Given the description of an element on the screen output the (x, y) to click on. 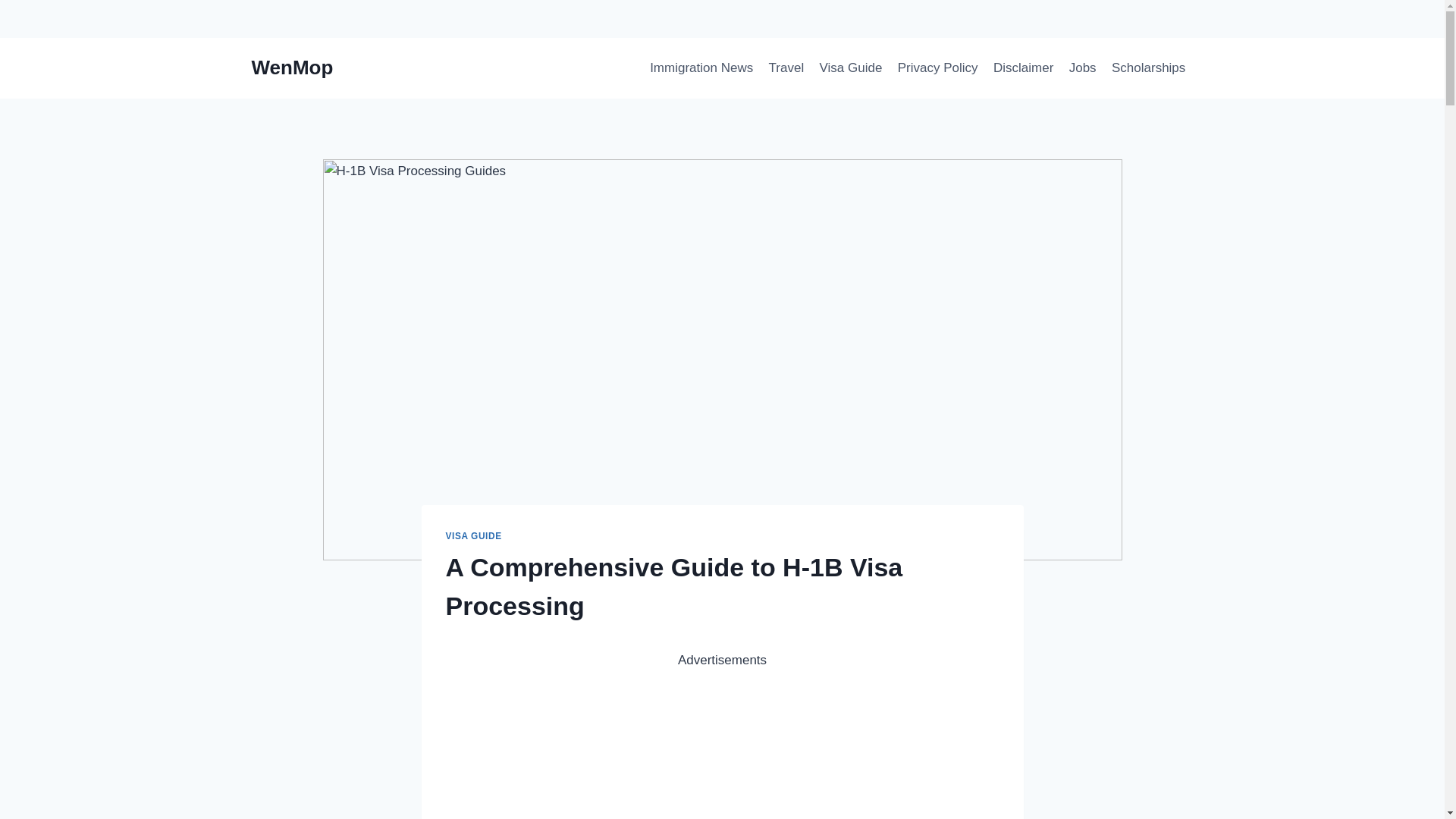
Immigration News (701, 67)
Visa Guide (849, 67)
Privacy Policy (937, 67)
Scholarships (1148, 67)
Disclaimer (1023, 67)
Travel (785, 67)
WenMop (292, 67)
Jobs (1082, 67)
VISA GUIDE (473, 535)
